Given the description of an element on the screen output the (x, y) to click on. 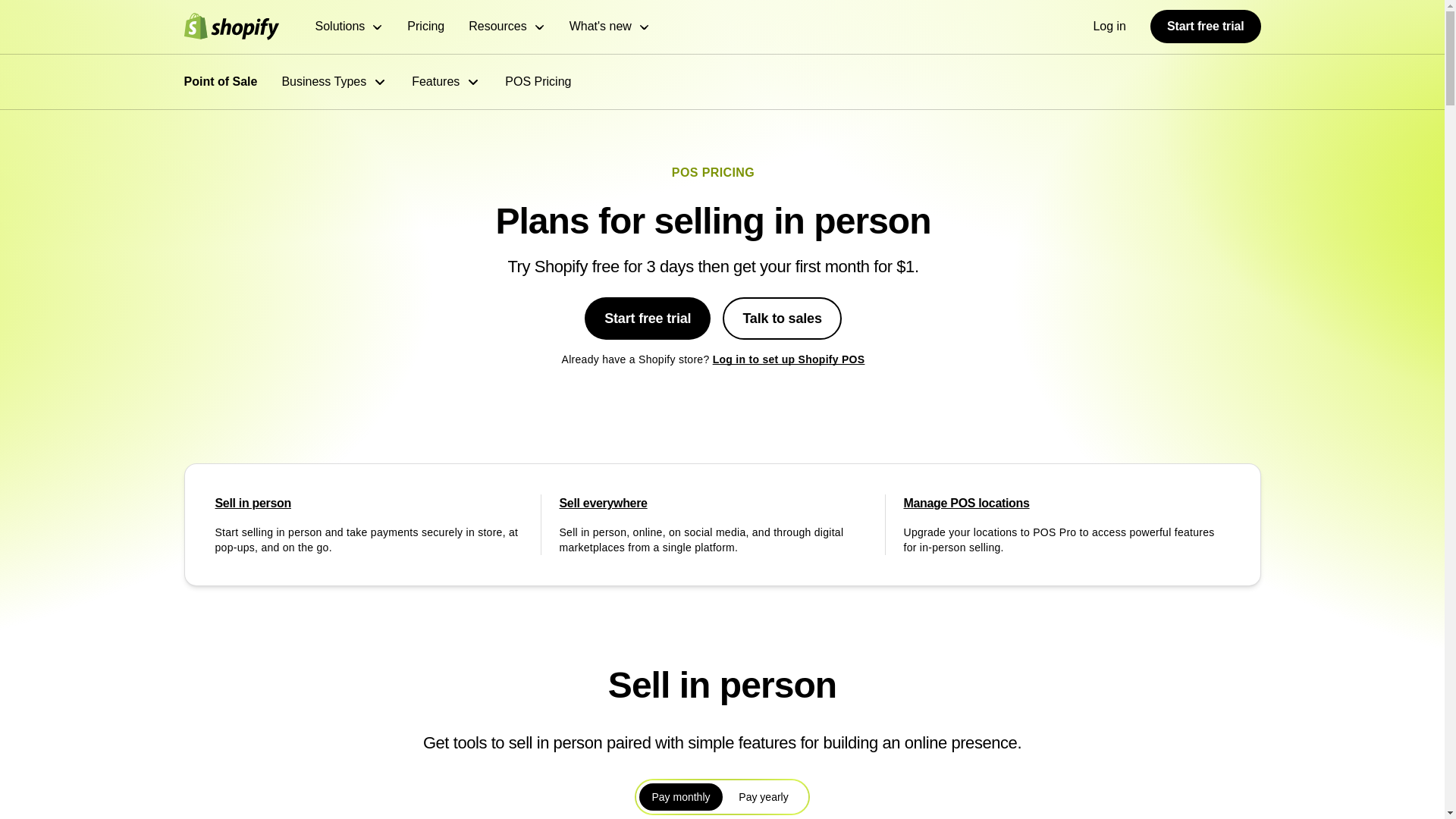
Resources (506, 27)
Solutions (349, 27)
